Given the description of an element on the screen output the (x, y) to click on. 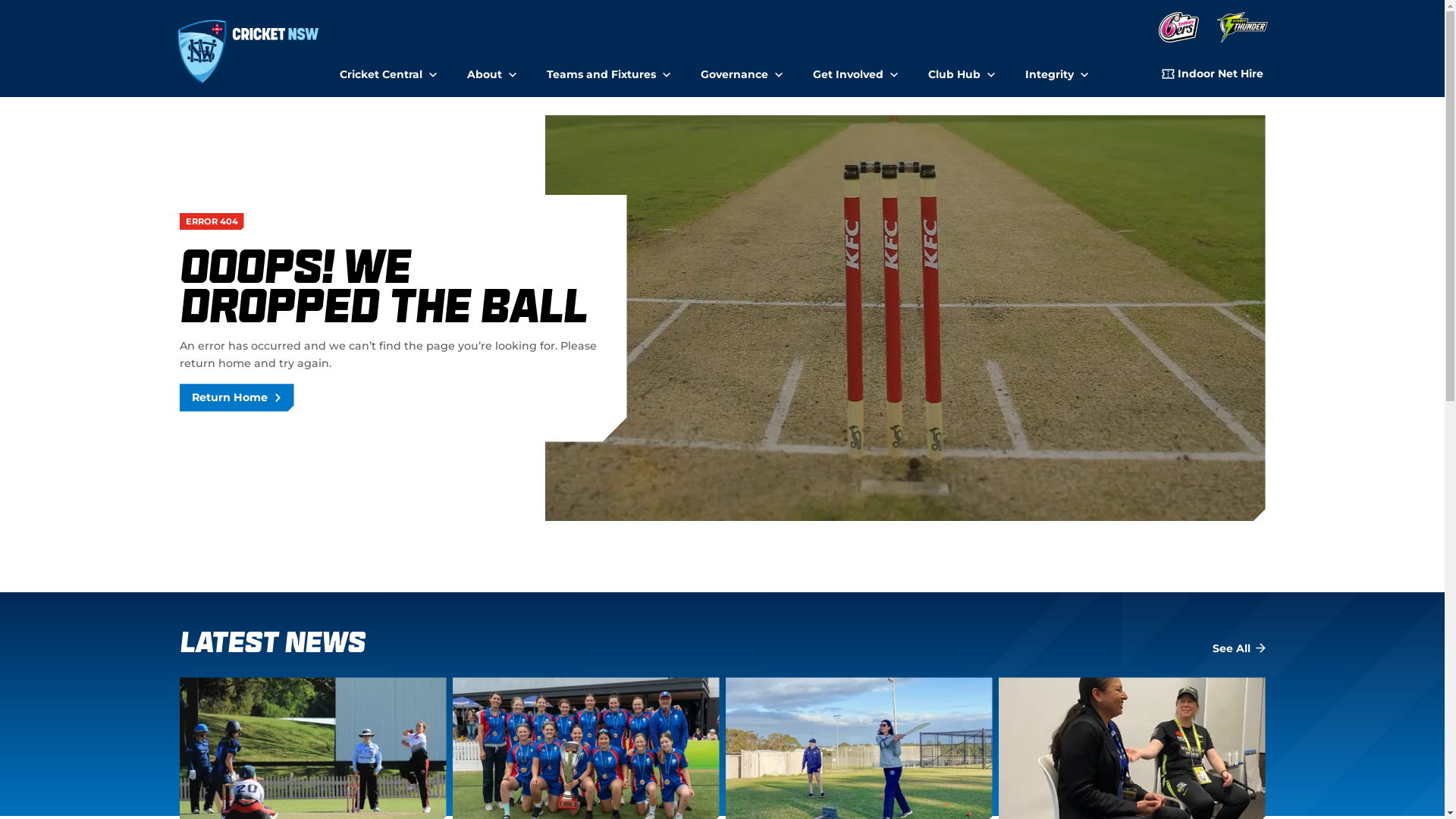
Teams and Fixtures Element type: text (608, 68)
Integrity Element type: text (1056, 68)
Indoor Net Hire Element type: text (1212, 75)
About Element type: text (491, 68)
Sydney Sixers Logo Element type: hover (1178, 28)
Return to Homepage Element type: hover (248, 51)
See All Element type: text (1237, 648)
Get Involved Element type: text (855, 68)
Governance Element type: text (741, 68)
Cricket Central Element type: text (387, 68)
Club Hub Element type: text (961, 68)
Return Home Element type: text (235, 397)
Sydney Thunder Element type: hover (1242, 28)
